Given the description of an element on the screen output the (x, y) to click on. 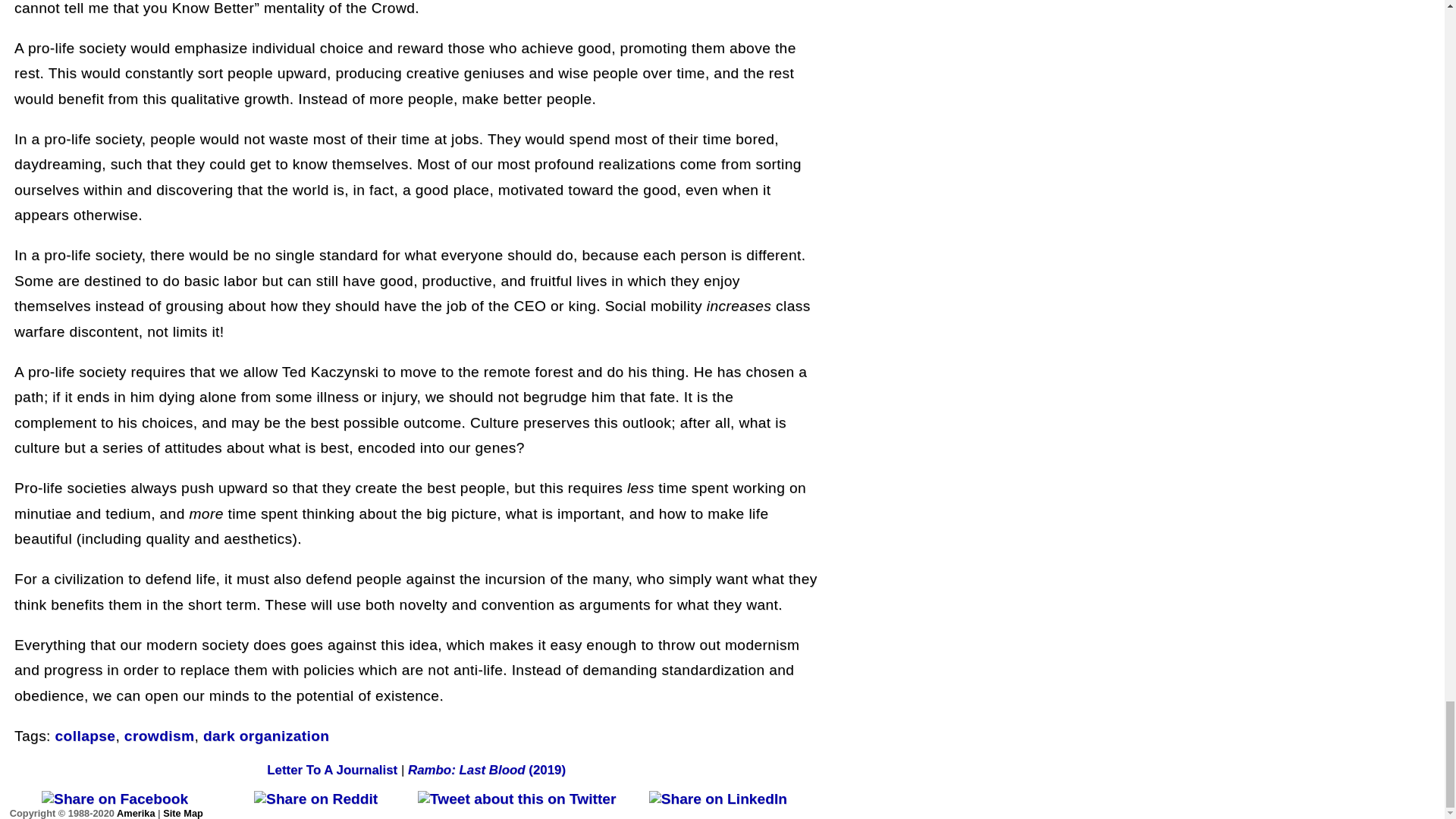
crowdism (159, 735)
Reddit (315, 799)
Letter To A Journalist (331, 769)
Twitter (516, 799)
LinkedIn (718, 799)
dark organization (266, 735)
Facebook (114, 799)
collapse (85, 735)
